Given the description of an element on the screen output the (x, y) to click on. 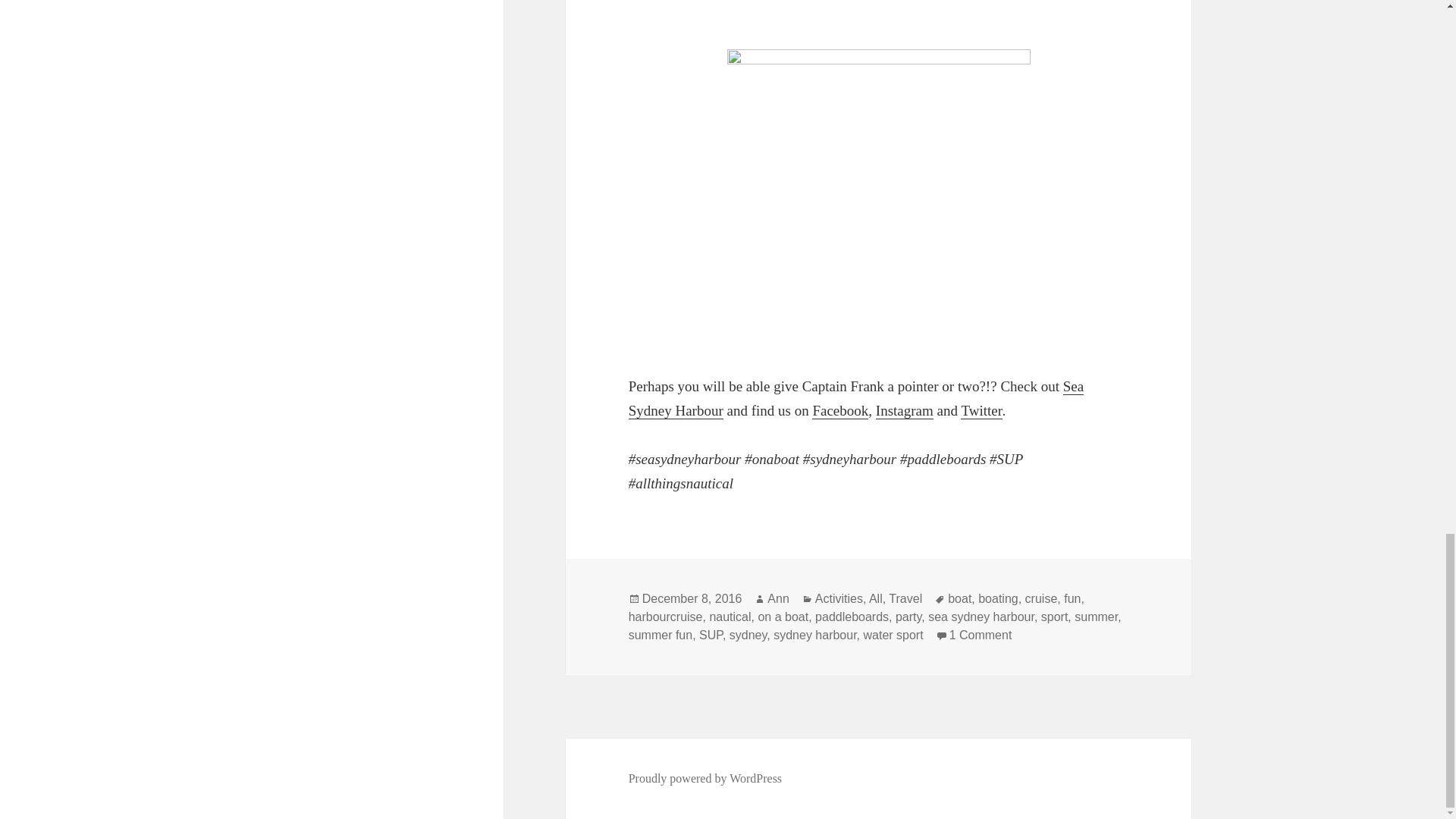
Instagram (904, 410)
All (875, 599)
Travel (904, 599)
boating (997, 599)
Sea Sydney Harbour (855, 398)
Twitter (981, 410)
Facebook (839, 410)
boat (959, 599)
Ann (778, 599)
December 8, 2016 (692, 599)
